Given the description of an element on the screen output the (x, y) to click on. 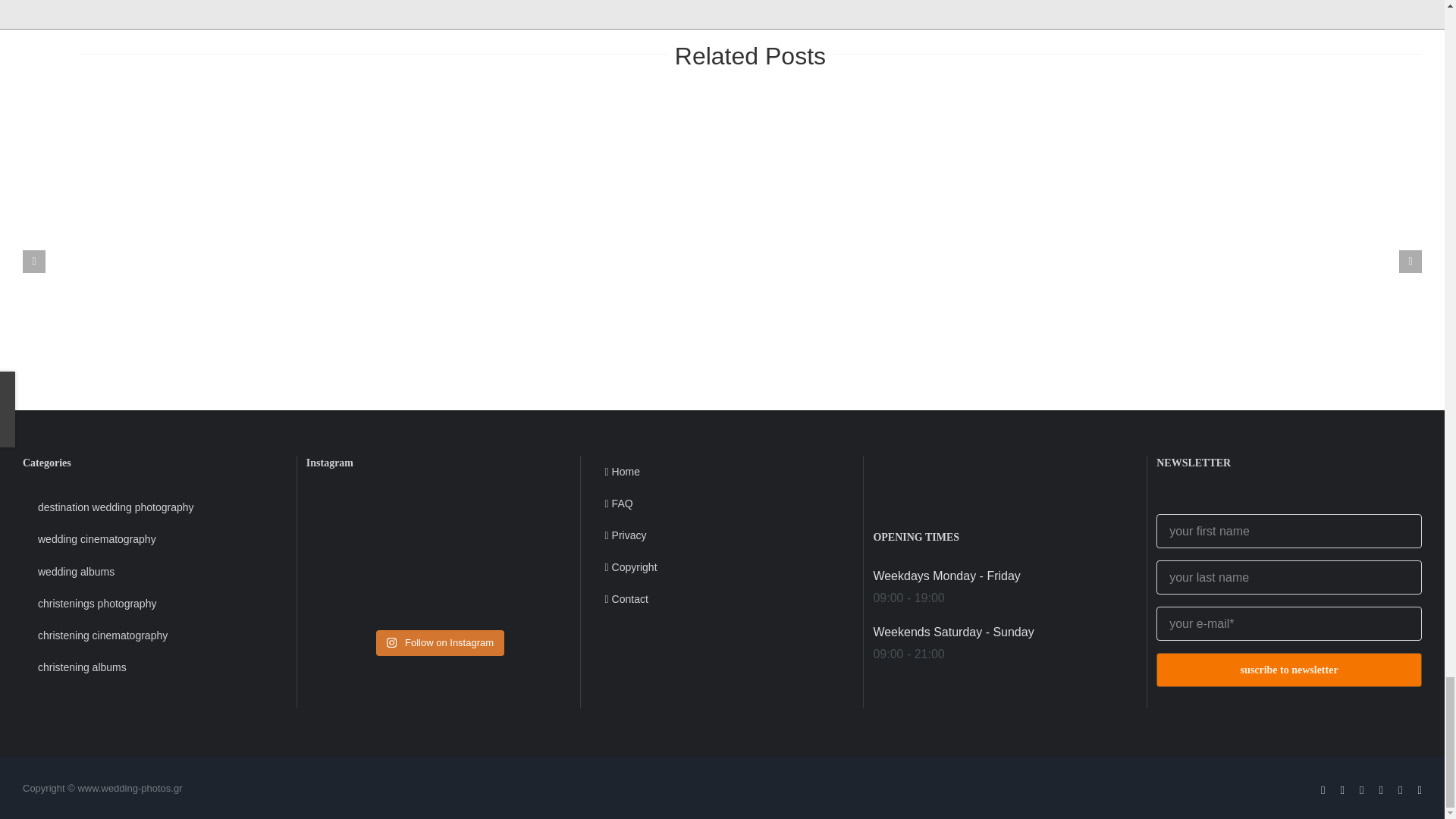
suscribe to newsletter (1289, 607)
